Given the description of an element on the screen output the (x, y) to click on. 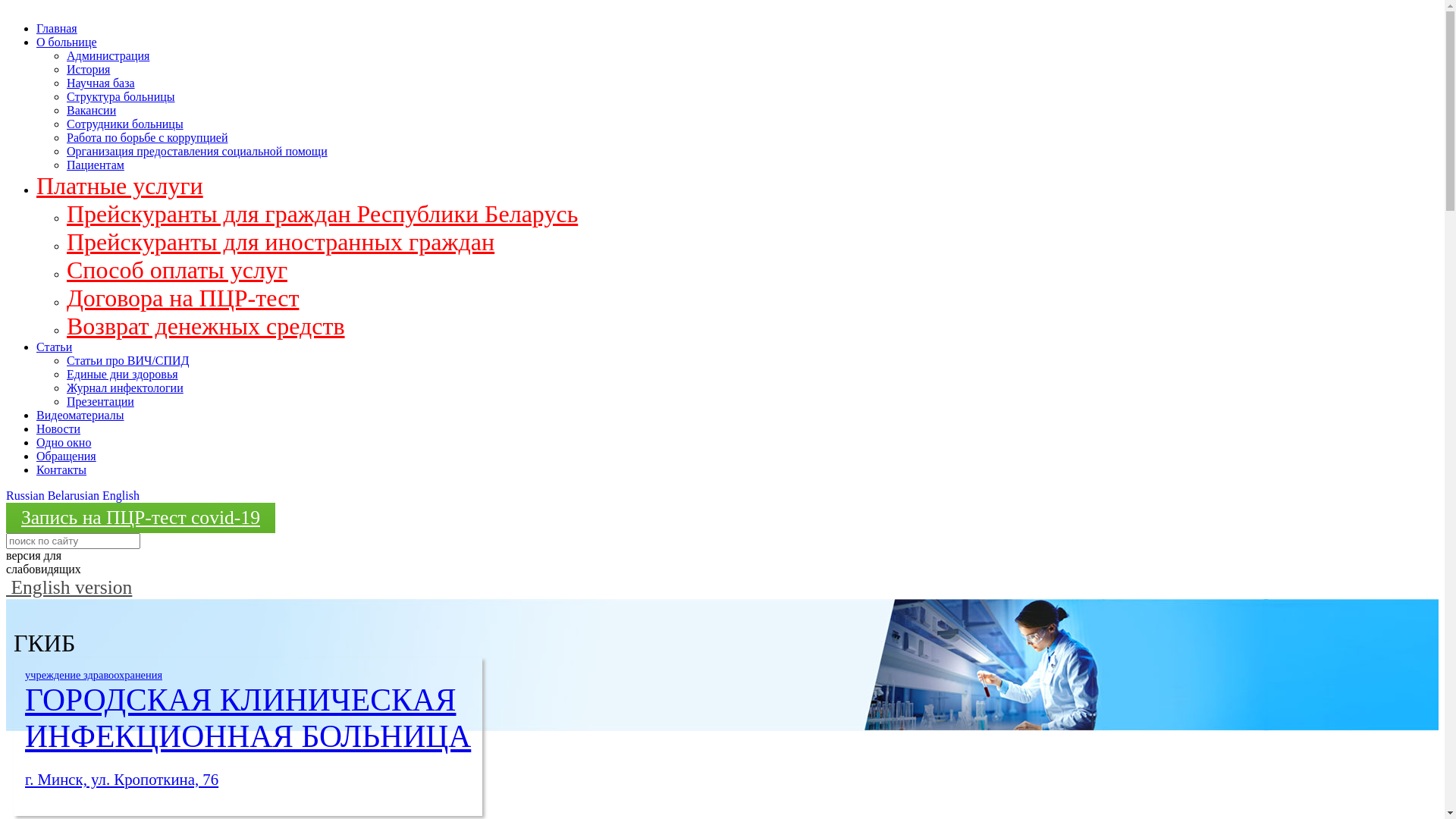
English Element type: text (120, 495)
Russian Element type: text (25, 495)
English version Element type: text (68, 587)
Belarusian Element type: text (73, 495)
